Given the description of an element on the screen output the (x, y) to click on. 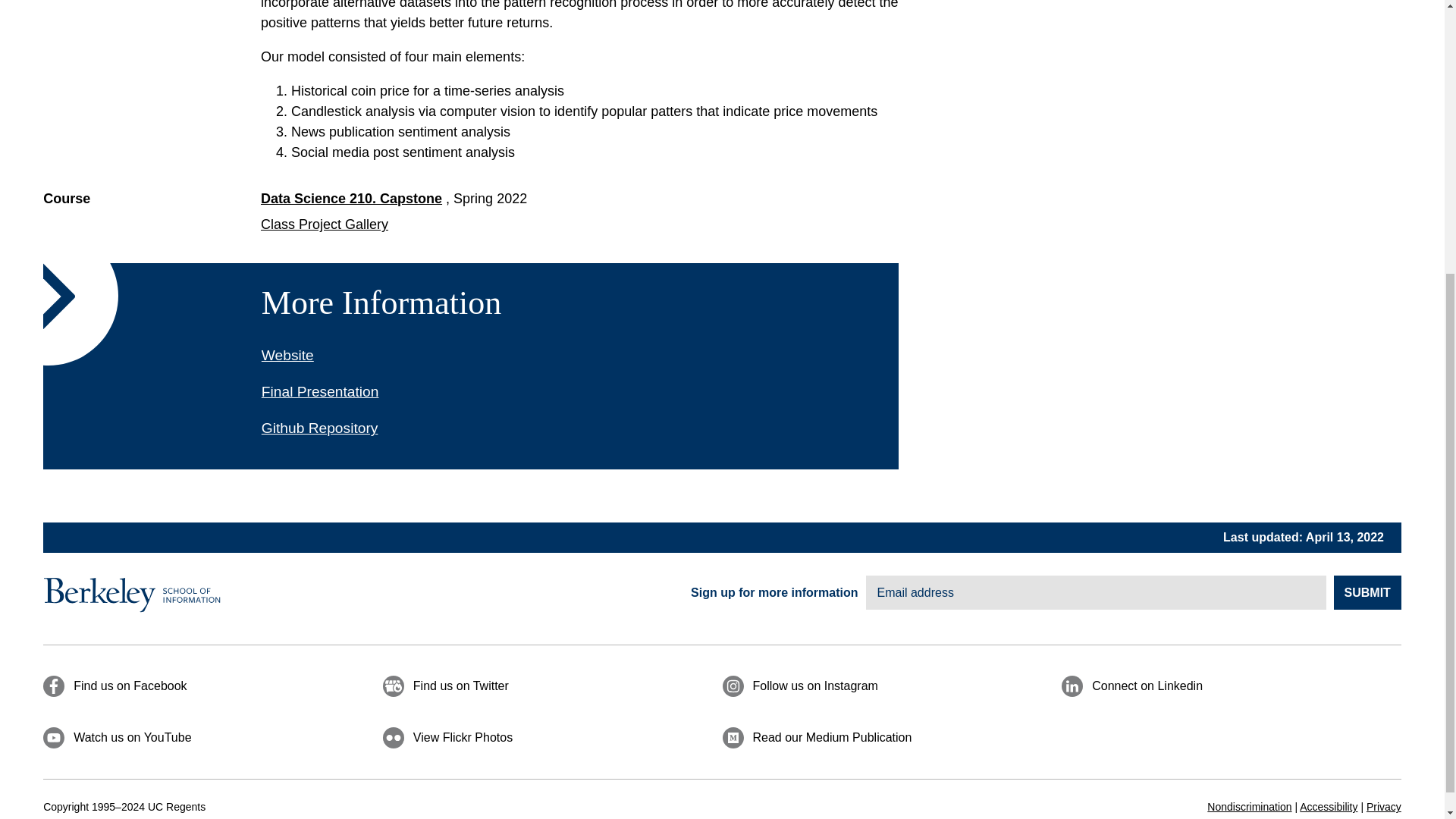
Submit (1366, 592)
